Given the description of an element on the screen output the (x, y) to click on. 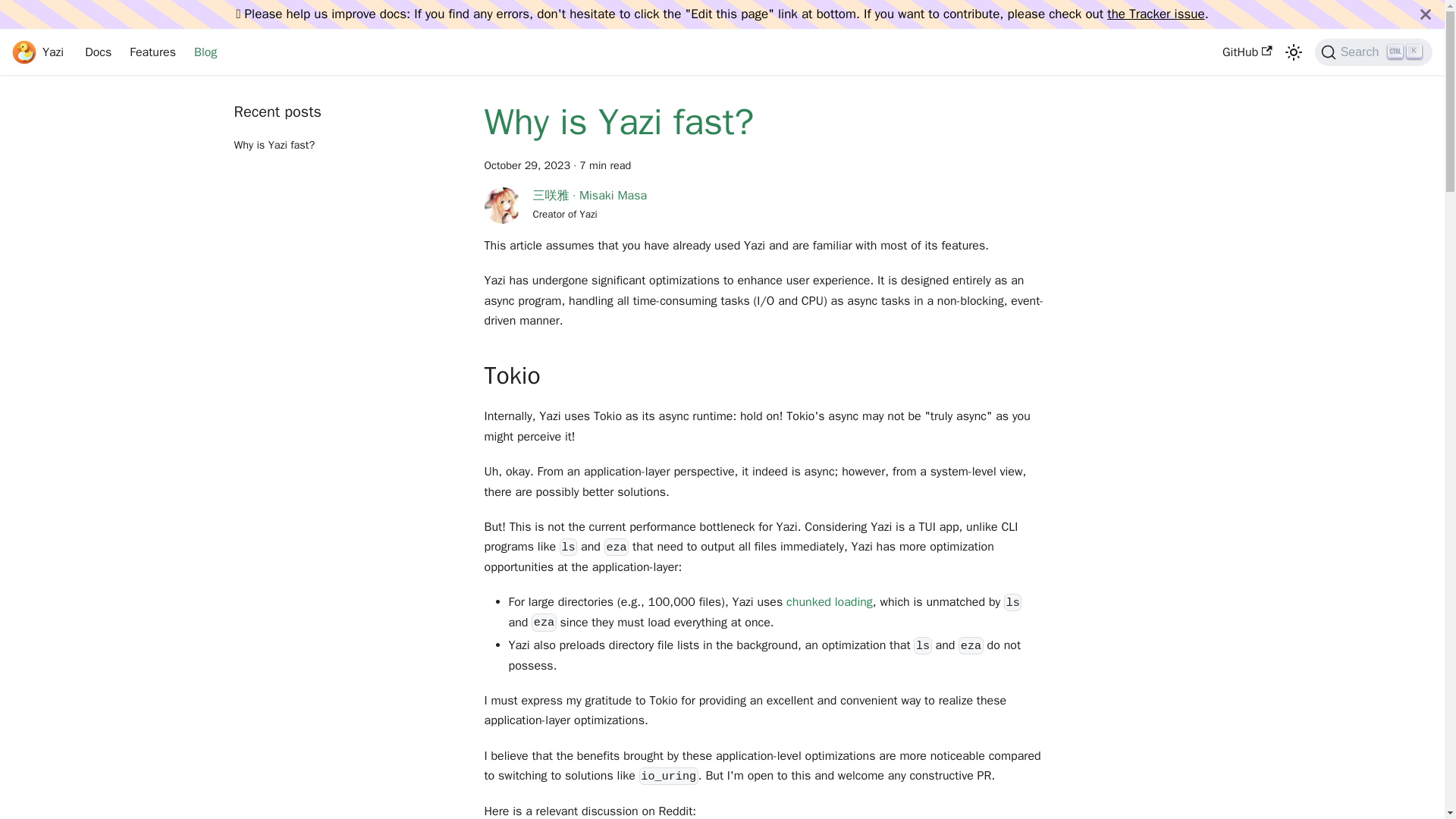
the Tracker issue (1155, 13)
Features (152, 52)
GitHub (1373, 52)
chunked loading (1246, 52)
Blog (829, 601)
Docs (204, 52)
Yazi (97, 52)
Why is Yazi fast? (346, 133)
Why is Yazi fast? (37, 52)
